Given the description of an element on the screen output the (x, y) to click on. 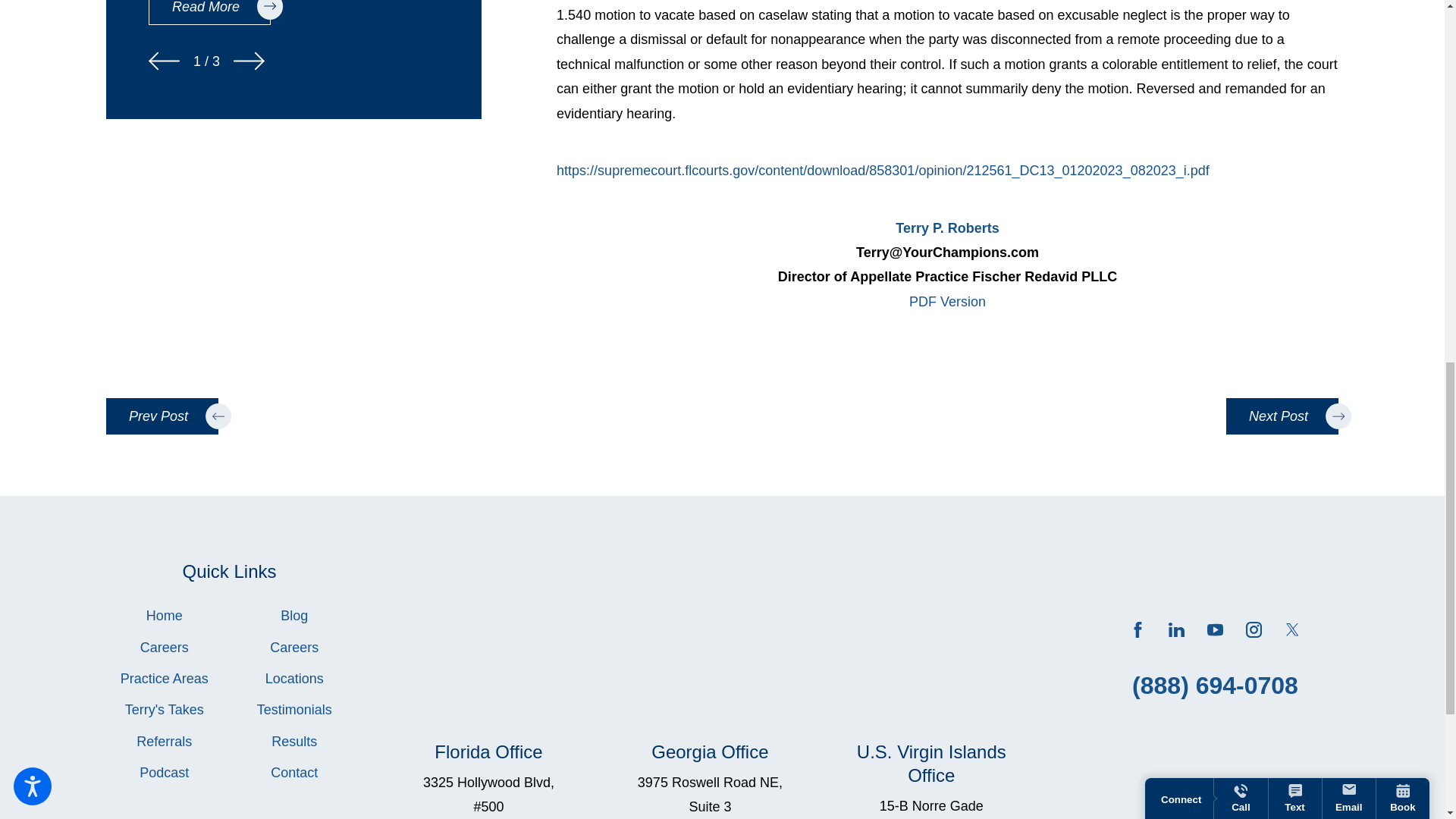
View next item (1281, 416)
View previous item (163, 60)
View next item (248, 60)
YouTube (1215, 629)
Facebook (1137, 629)
LinkedIn (1177, 629)
View previous item (162, 416)
